Given the description of an element on the screen output the (x, y) to click on. 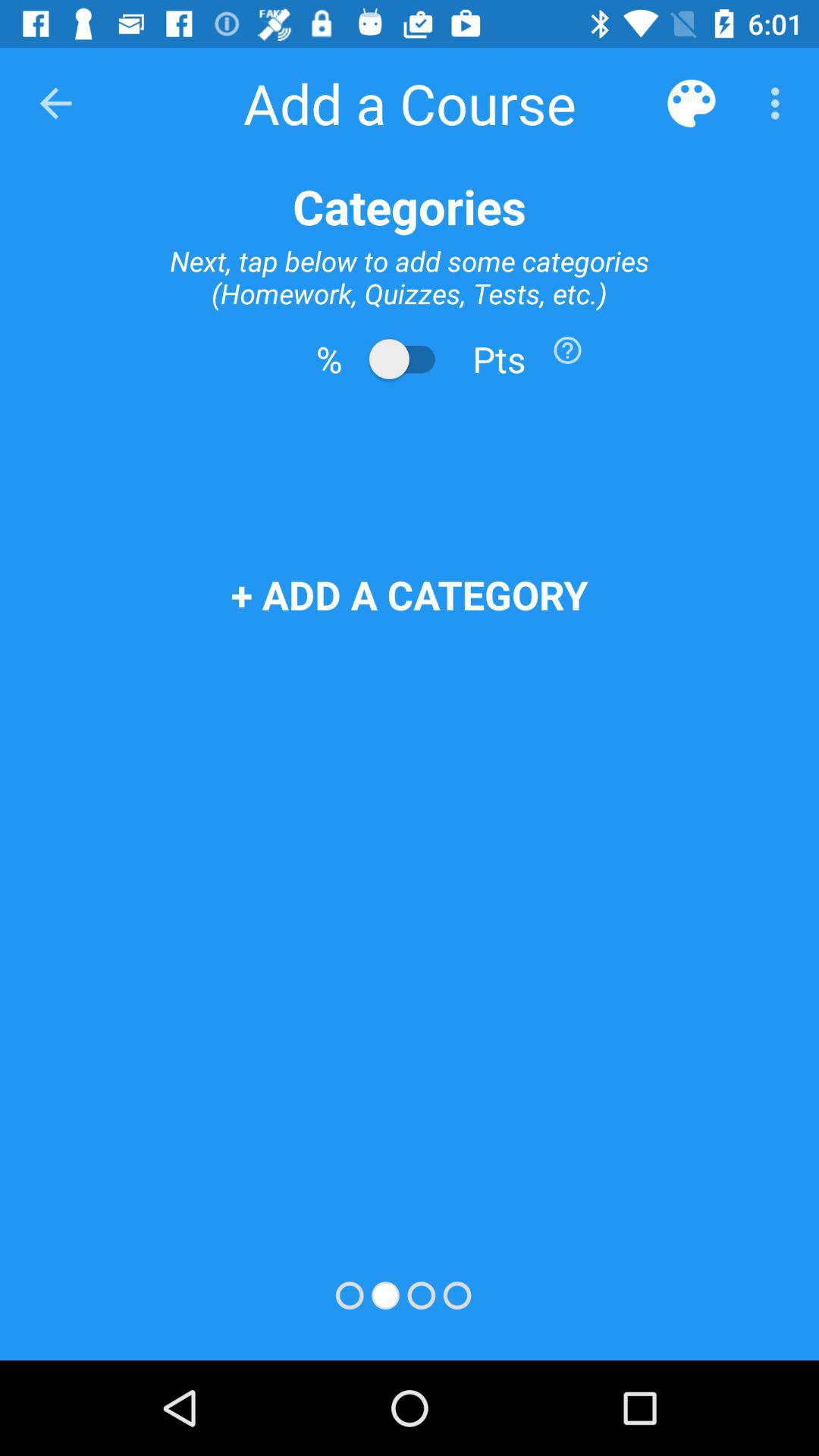
a button for switching from percentage to pts (409, 359)
